Given the description of an element on the screen output the (x, y) to click on. 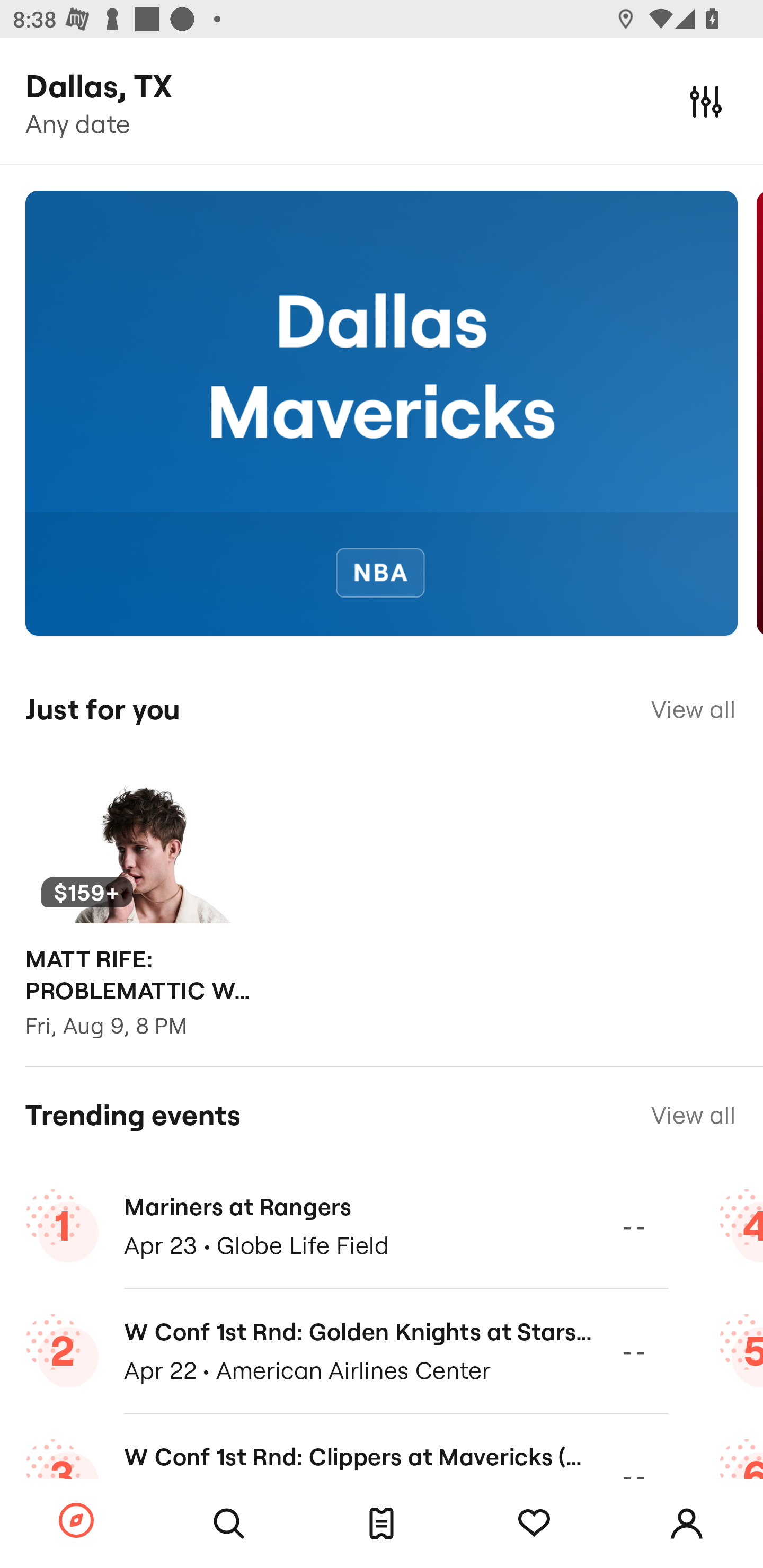
Filters (705, 100)
View all (693, 709)
View all (693, 1114)
Browse (76, 1521)
Search (228, 1523)
Tickets (381, 1523)
Tracking (533, 1523)
Account (686, 1523)
